Given the description of an element on the screen output the (x, y) to click on. 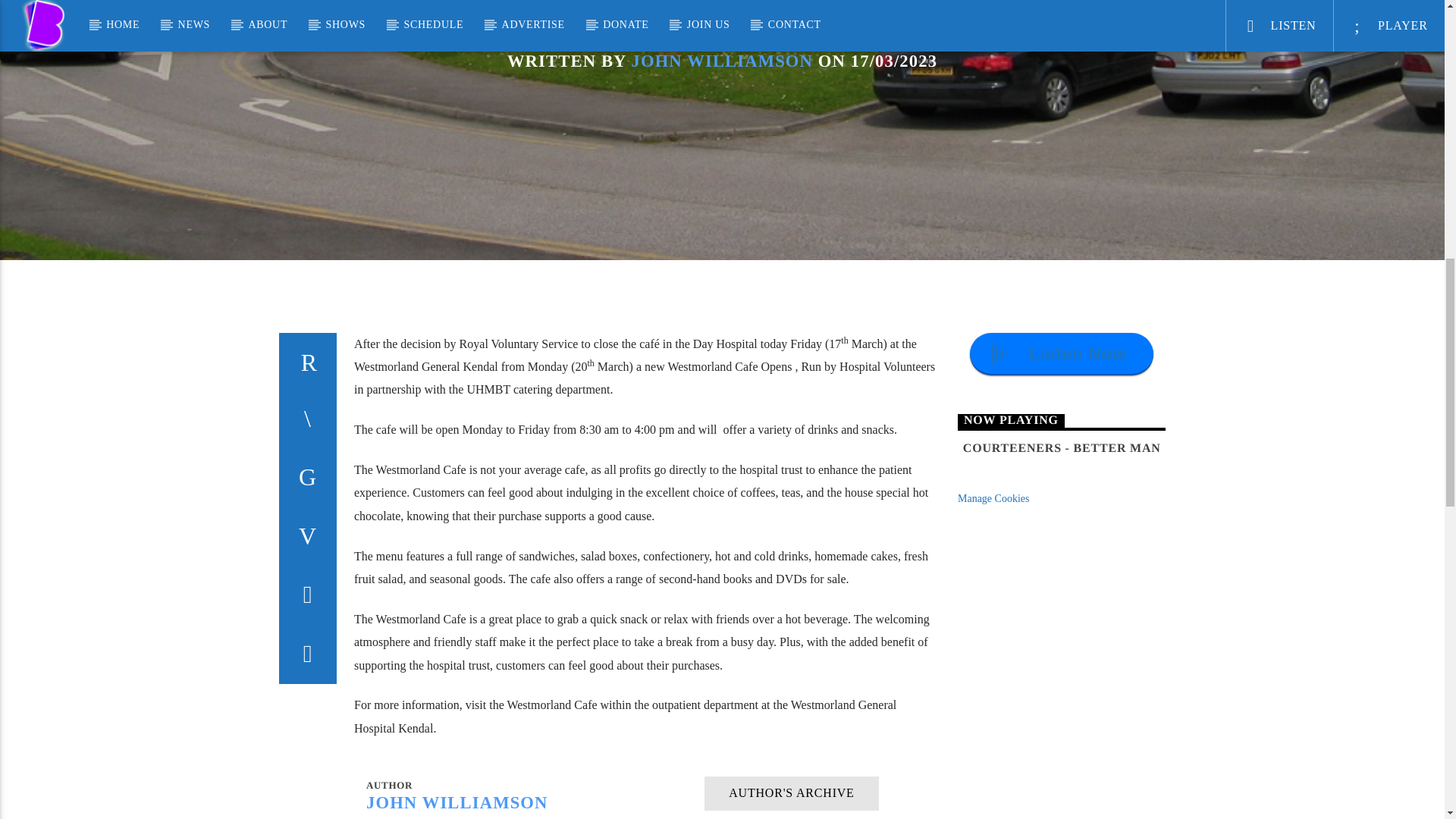
Open Radioplayer (1061, 353)
Posts by John Williamson (721, 60)
